Given the description of an element on the screen output the (x, y) to click on. 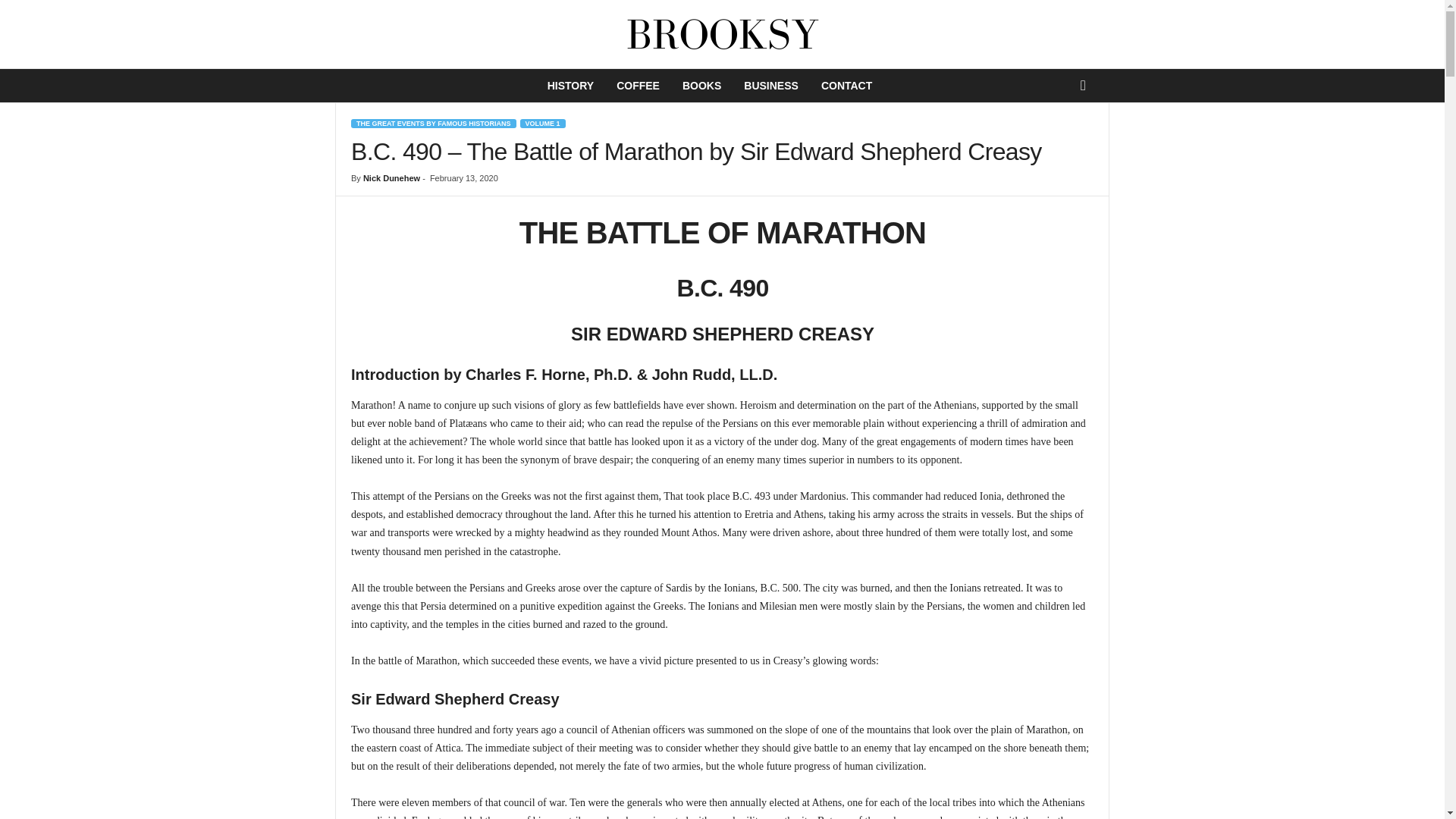
BUSINESS (770, 85)
VOLUME 1 (542, 122)
HISTORY (570, 85)
THE GREAT EVENTS BY FAMOUS HISTORIANS (433, 122)
COFFEE (638, 85)
BOOKS (701, 85)
Nick Dunehew (391, 177)
CONTACT (846, 85)
